Given the description of an element on the screen output the (x, y) to click on. 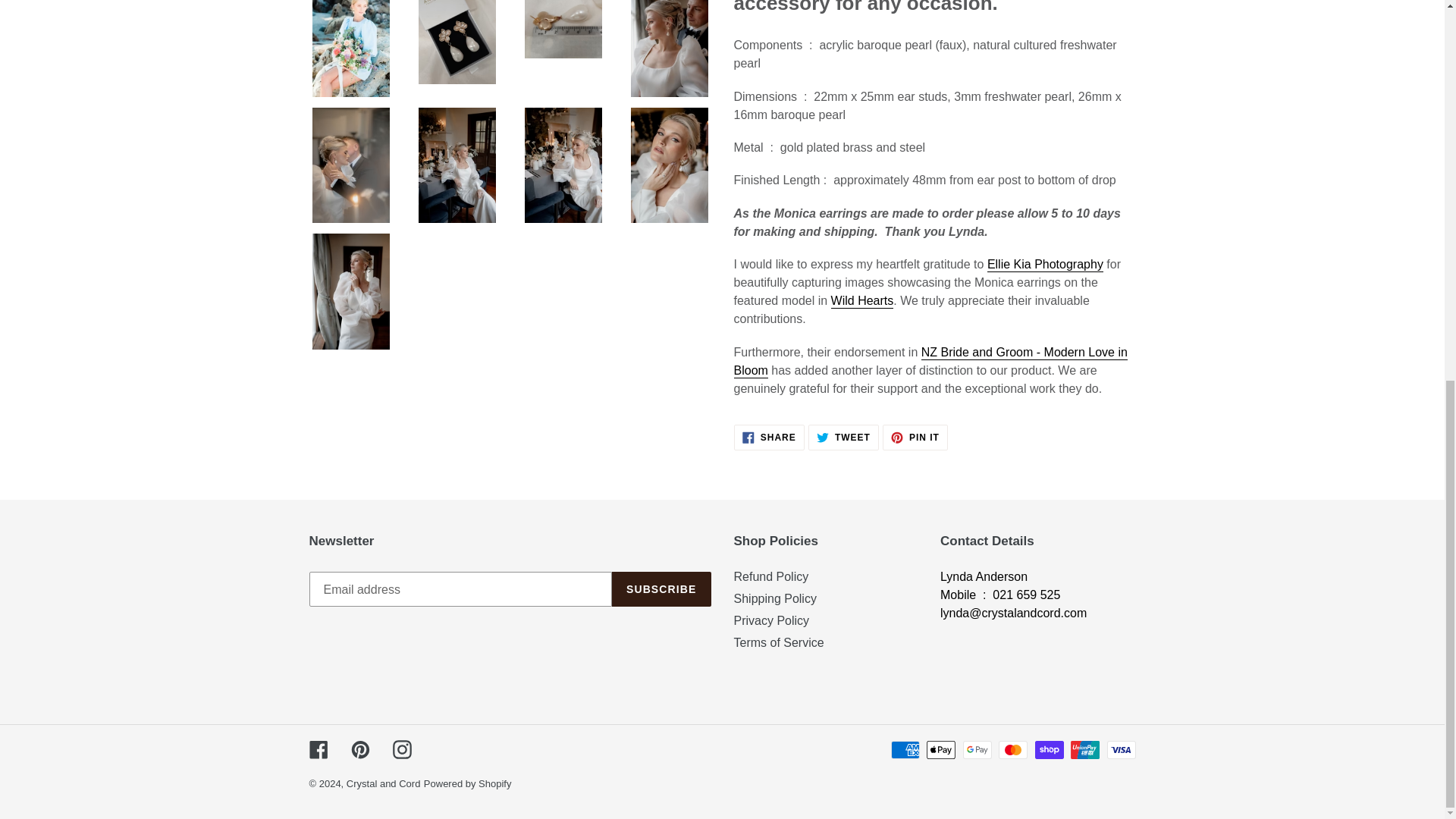
Modern Love in Bloom Monica earrings (929, 361)
Wild Hearts and Monica earrings (862, 301)
EllieKai photography (1045, 264)
